Given the description of an element on the screen output the (x, y) to click on. 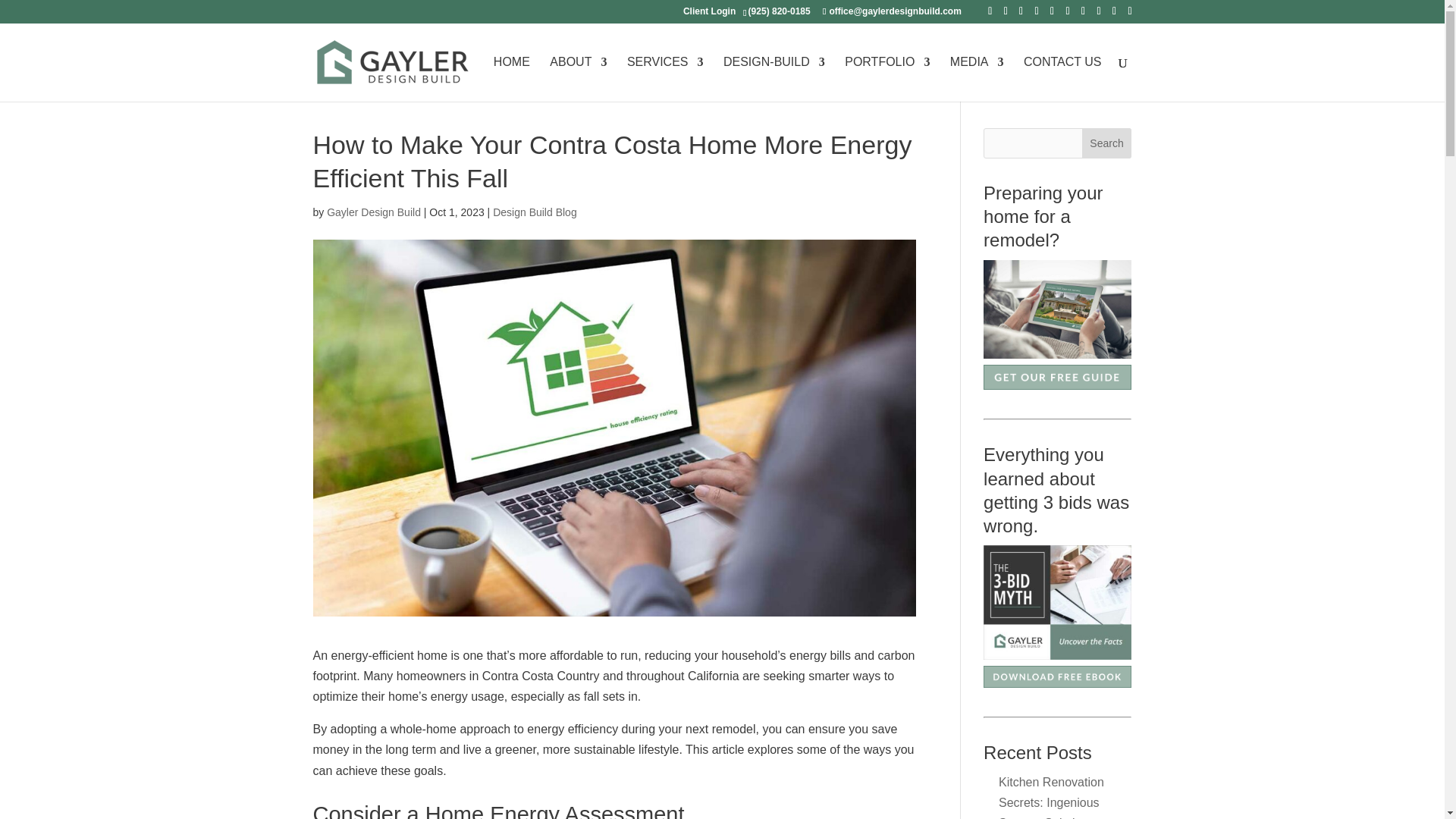
Posts by Gayler Design Build (373, 212)
ABOUT (578, 78)
Client Login (708, 14)
